Given the description of an element on the screen output the (x, y) to click on. 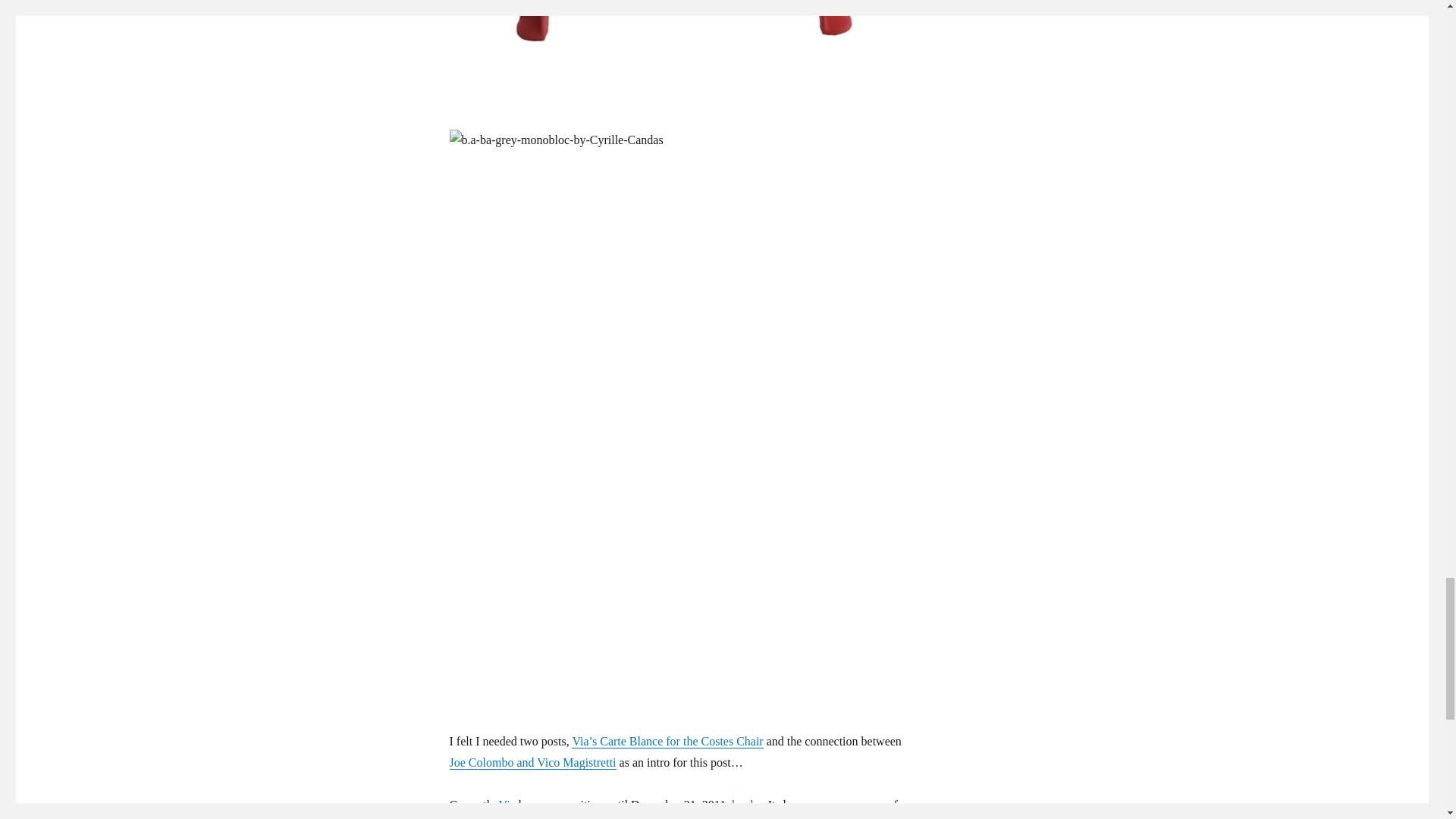
Via (507, 804)
b.a-ba (746, 804)
b.a-ba-red-monobloc by Cyrille Candas (676, 43)
Joe Colombo and Vico Magistretti (531, 762)
